Given the description of an element on the screen output the (x, y) to click on. 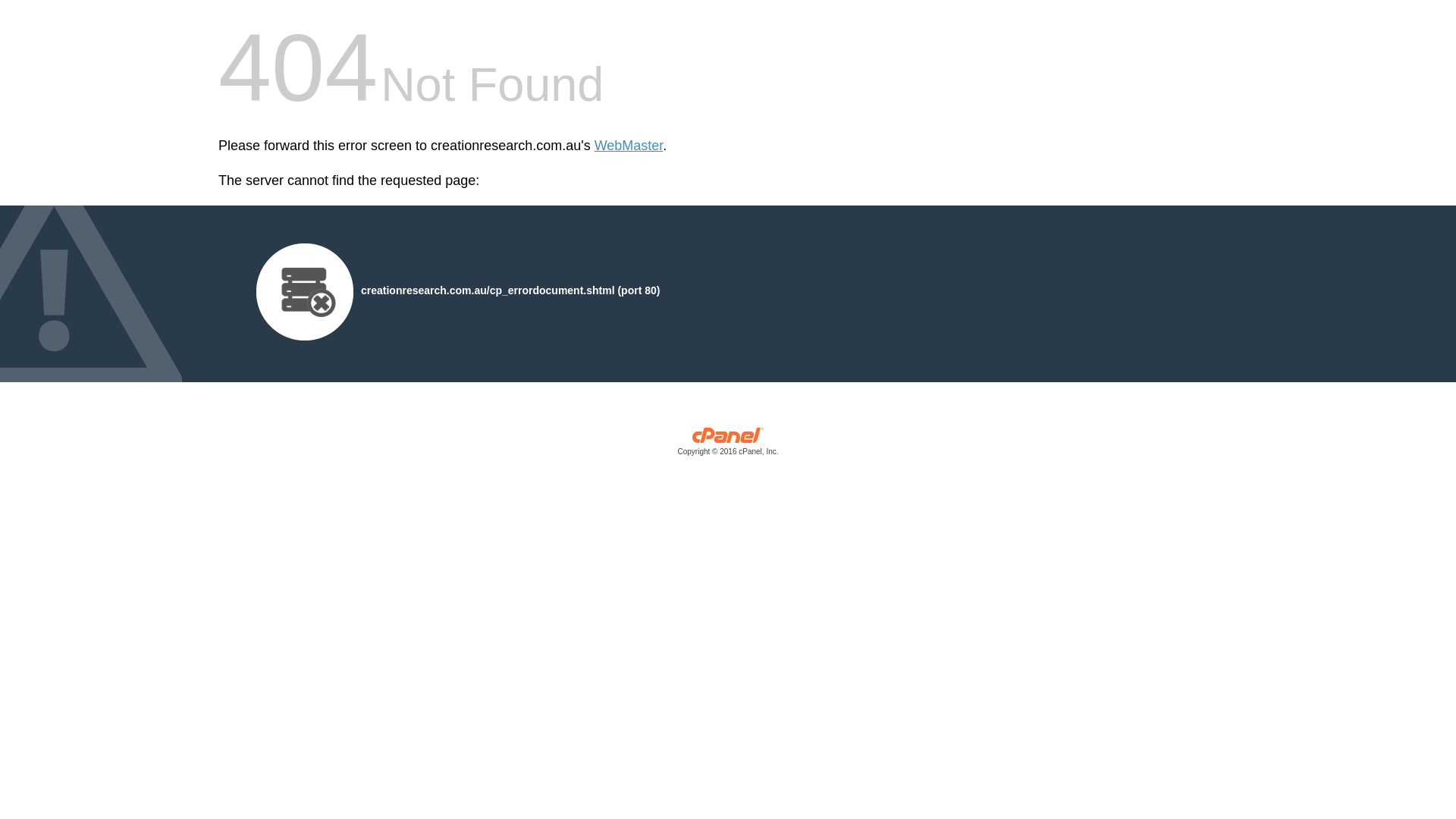
WebMaster Element type: text (628, 145)
